Given the description of an element on the screen output the (x, y) to click on. 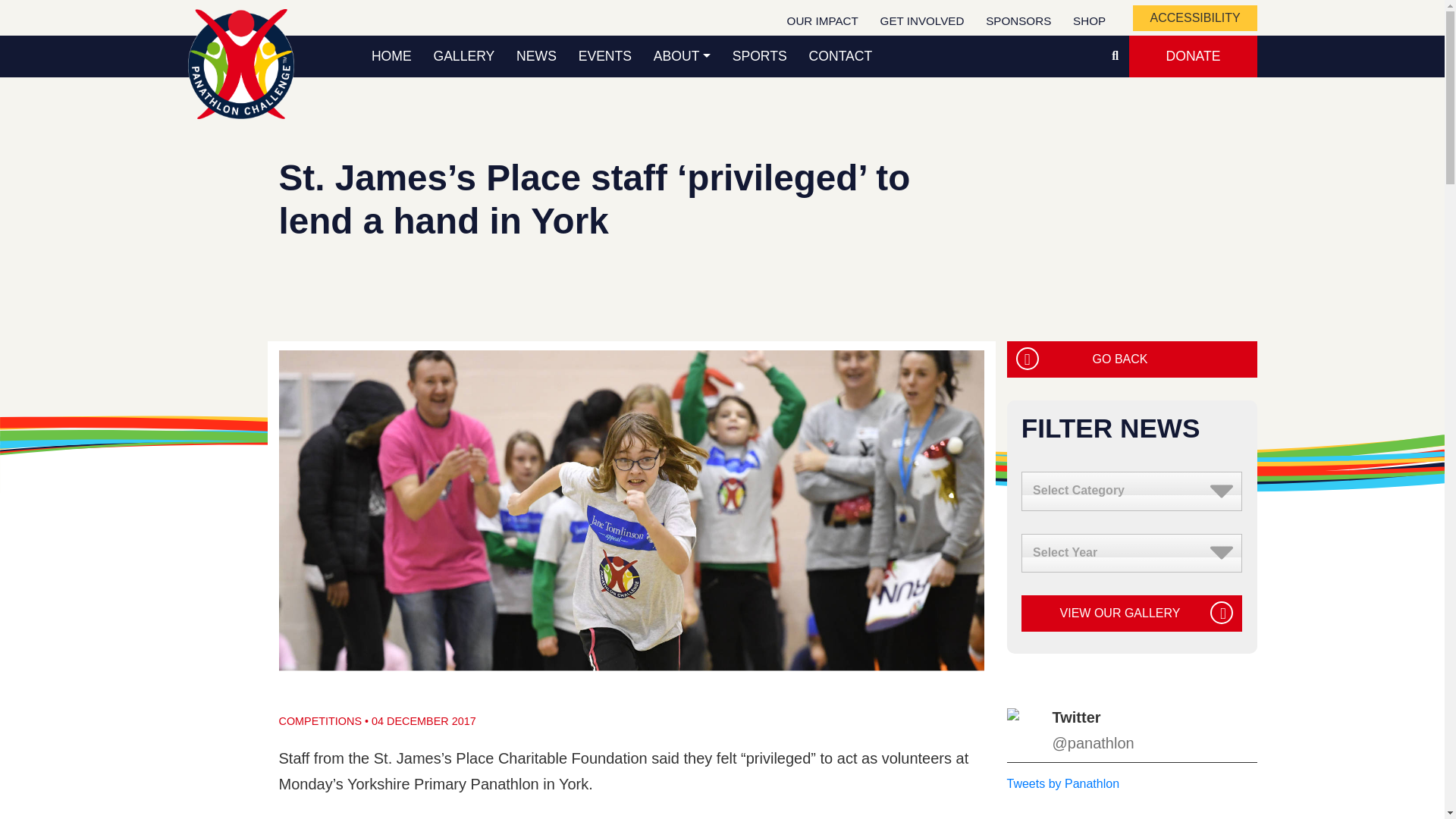
SPORTS (758, 56)
ABOUT (681, 56)
EVENTS (604, 56)
HOME (392, 56)
OUR IMPACT (822, 21)
GALLERY (463, 56)
SHOP (1089, 21)
GET INVOLVED (922, 21)
SPONSORS (1018, 21)
CONTACT (840, 56)
